Given the description of an element on the screen output the (x, y) to click on. 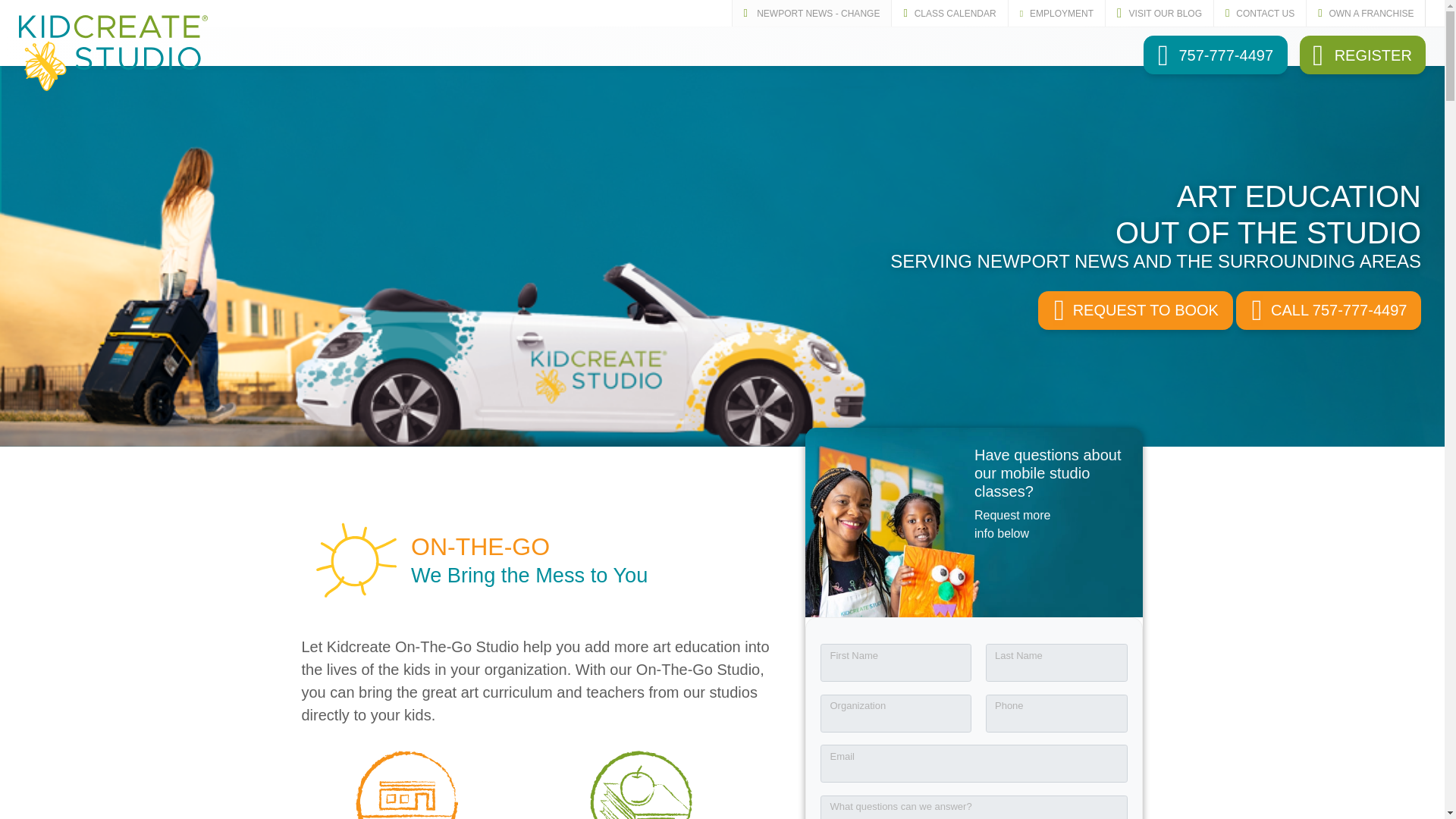
Newport News Mobile Art Classes (406, 785)
Kids On The Go Art Studio Newport News (356, 560)
Request our Newport News Mobile Art Classes (1135, 310)
CONTACT US (1259, 13)
757-777-4497 (1214, 55)
Last Name (1056, 662)
VISIT OUR BLOG (1158, 13)
NEWPORT NEWS - CHANGE (811, 13)
Email (973, 763)
First Name (896, 662)
Organization (896, 713)
Mobile Art Studio Kids Parties (641, 785)
What questions can we answer?  (973, 807)
OWN A FRANCHISE (1365, 13)
Phone (1056, 713)
